Given the description of an element on the screen output the (x, y) to click on. 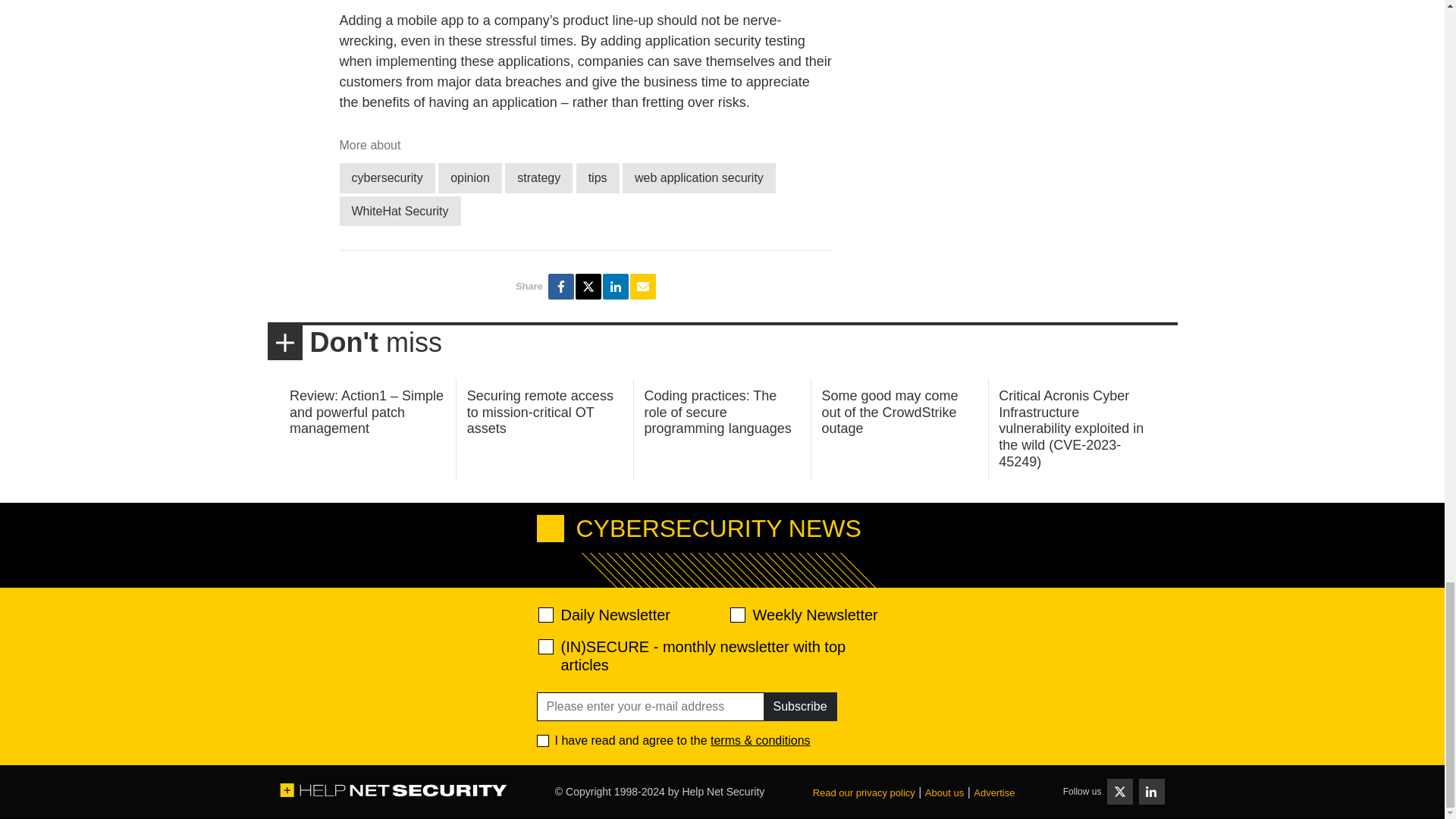
strategy (538, 177)
1 (542, 740)
WhiteHat Security (400, 211)
opinion (470, 177)
web application security (699, 177)
cybersecurity (387, 177)
strategy (538, 177)
web application security (699, 177)
520ac2f639 (545, 614)
cybersecurity (387, 177)
WhiteHat Security (400, 211)
